Given the description of an element on the screen output the (x, y) to click on. 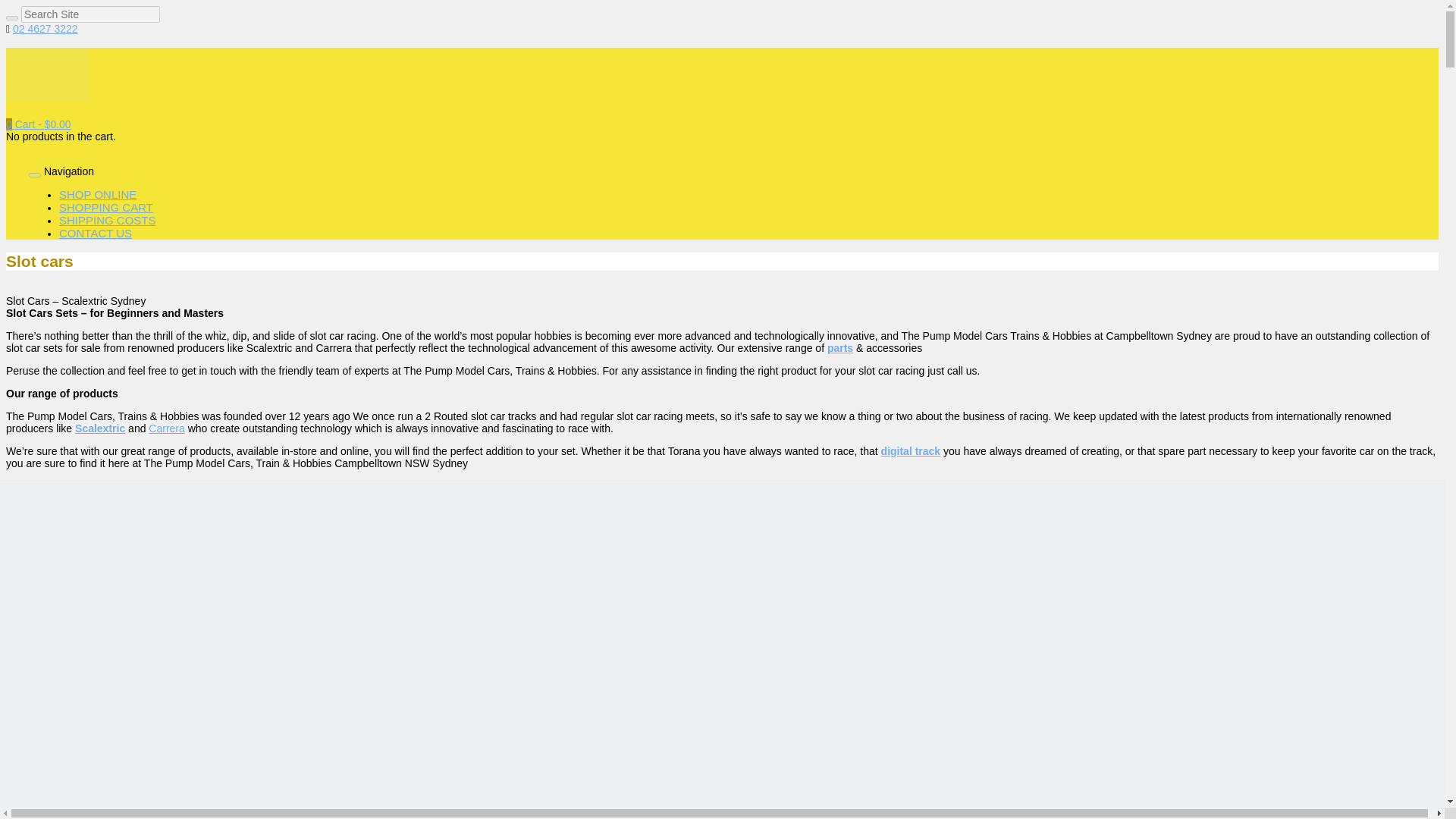
Carrera (166, 428)
02 4627 3222 (45, 28)
Toggle navigation (34, 174)
Scalextric (100, 428)
digital track (910, 451)
SHIPPING COSTS (107, 219)
CONTACT US (95, 232)
parts (840, 347)
SHOP ONLINE (97, 194)
SHOPPING CART (105, 206)
